Given the description of an element on the screen output the (x, y) to click on. 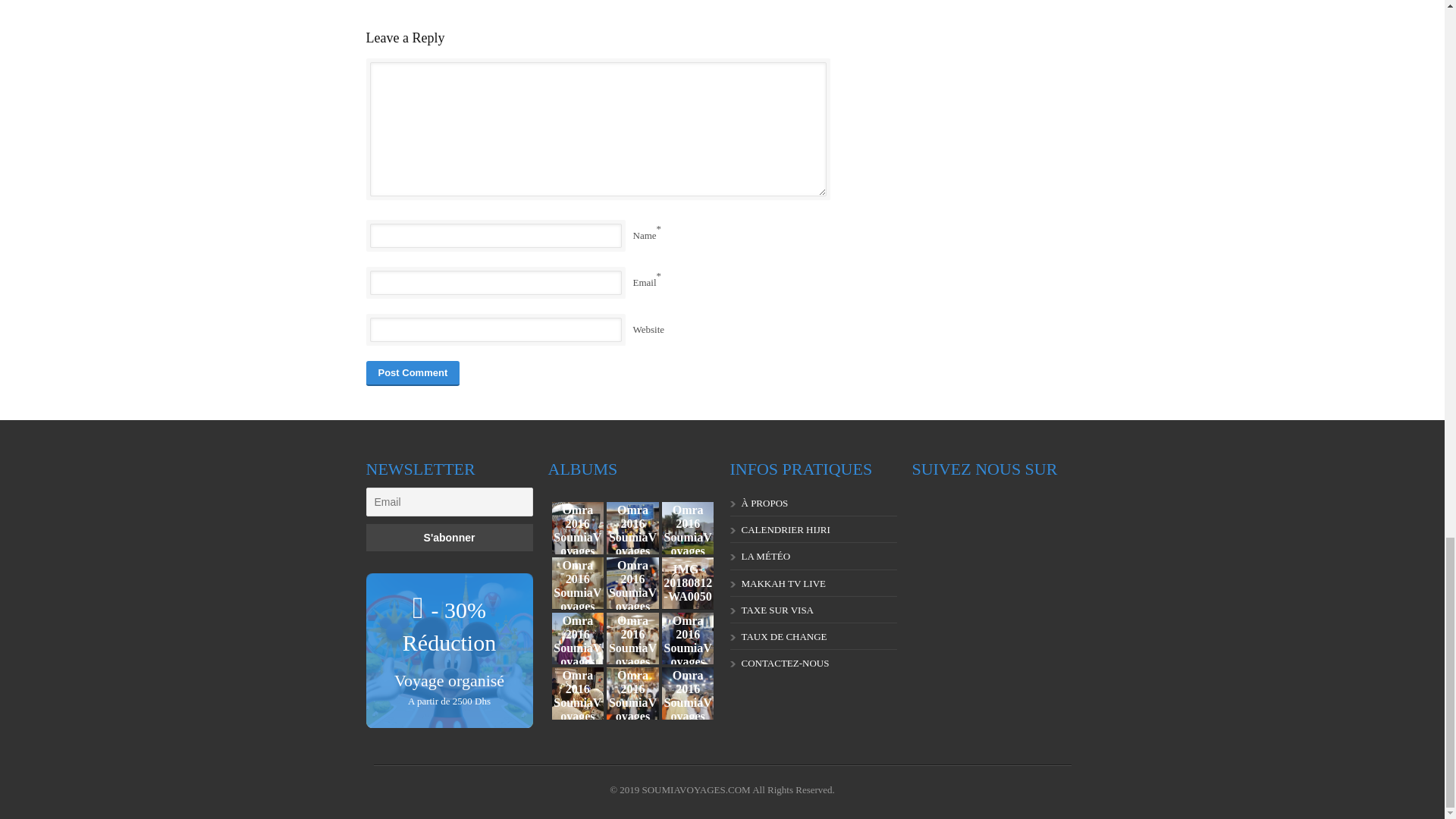
Post Comment (412, 373)
Post Comment (412, 373)
Omra 2016 SoumiaVoyages (633, 637)
S'abonner (448, 537)
Omra 2016 SoumiaVoyages (633, 693)
Omra 2016 SoumiaVoyages (688, 693)
Omra 2016 SoumiaVoyages (688, 528)
IMG-20180812-WA0050 (688, 583)
Omra 2016 SoumiaVoyages (577, 693)
Omra 2016 SoumiaVoyages (577, 528)
Omra 2016 SoumiaVoyages (688, 637)
Omra 2016 SoumiaVoyages (633, 583)
Omra 2016 SoumiaVoyages (577, 637)
Omra 2016 SoumiaVoyages (577, 583)
S'abonner (448, 537)
